Given the description of an element on the screen output the (x, y) to click on. 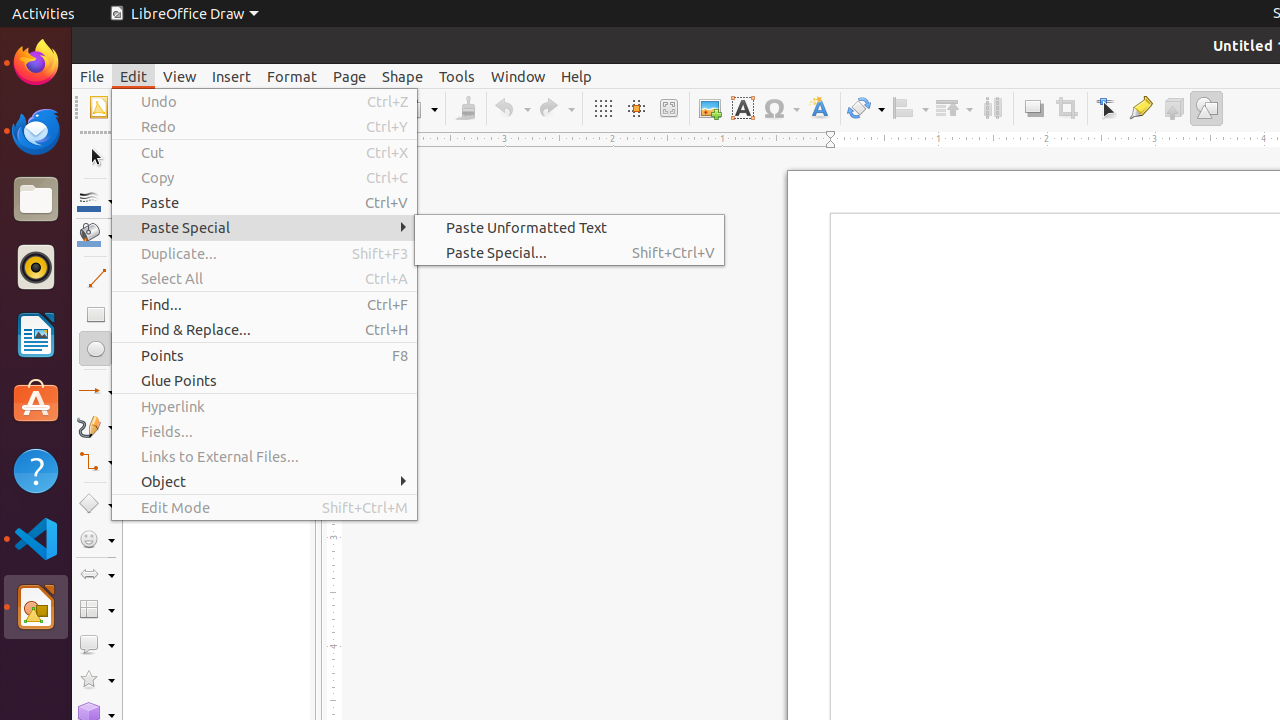
Files Element type: push-button (36, 199)
Format Element type: menu (292, 76)
Tools Element type: menu (457, 76)
Window Element type: menu (518, 76)
